Given the description of an element on the screen output the (x, y) to click on. 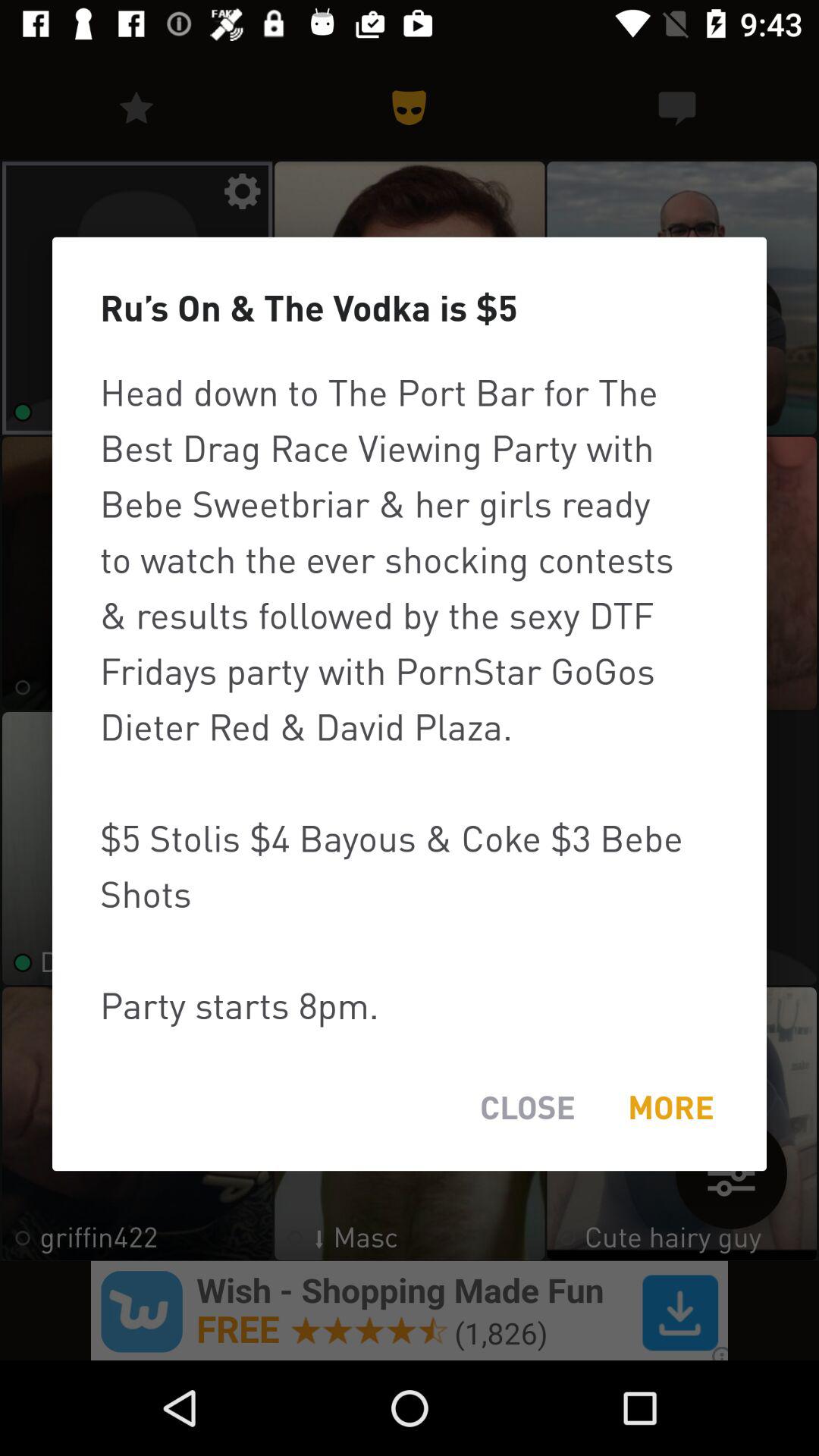
click the item to the right of close (670, 1107)
